Given the description of an element on the screen output the (x, y) to click on. 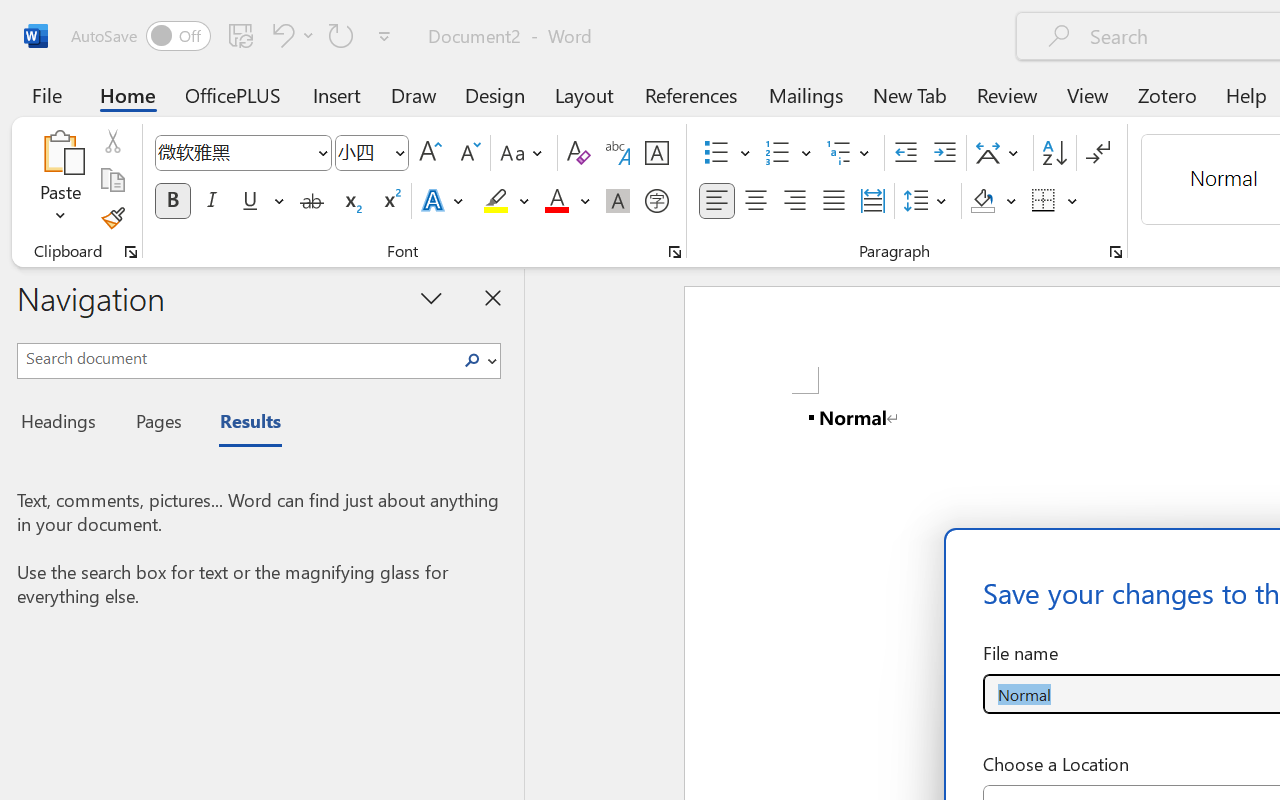
Customize Quick Access Toolbar (384, 35)
Bullets (716, 153)
Distributed (872, 201)
OfficePLUS (233, 94)
Font Color Red (556, 201)
Results (240, 424)
Search (478, 360)
Shrink Font (468, 153)
Class: NetUIImage (471, 360)
Layout (584, 94)
Show/Hide Editing Marks (1098, 153)
Quick Access Toolbar (233, 36)
Borders (1044, 201)
Text Effects and Typography (444, 201)
New Tab (909, 94)
